Given the description of an element on the screen output the (x, y) to click on. 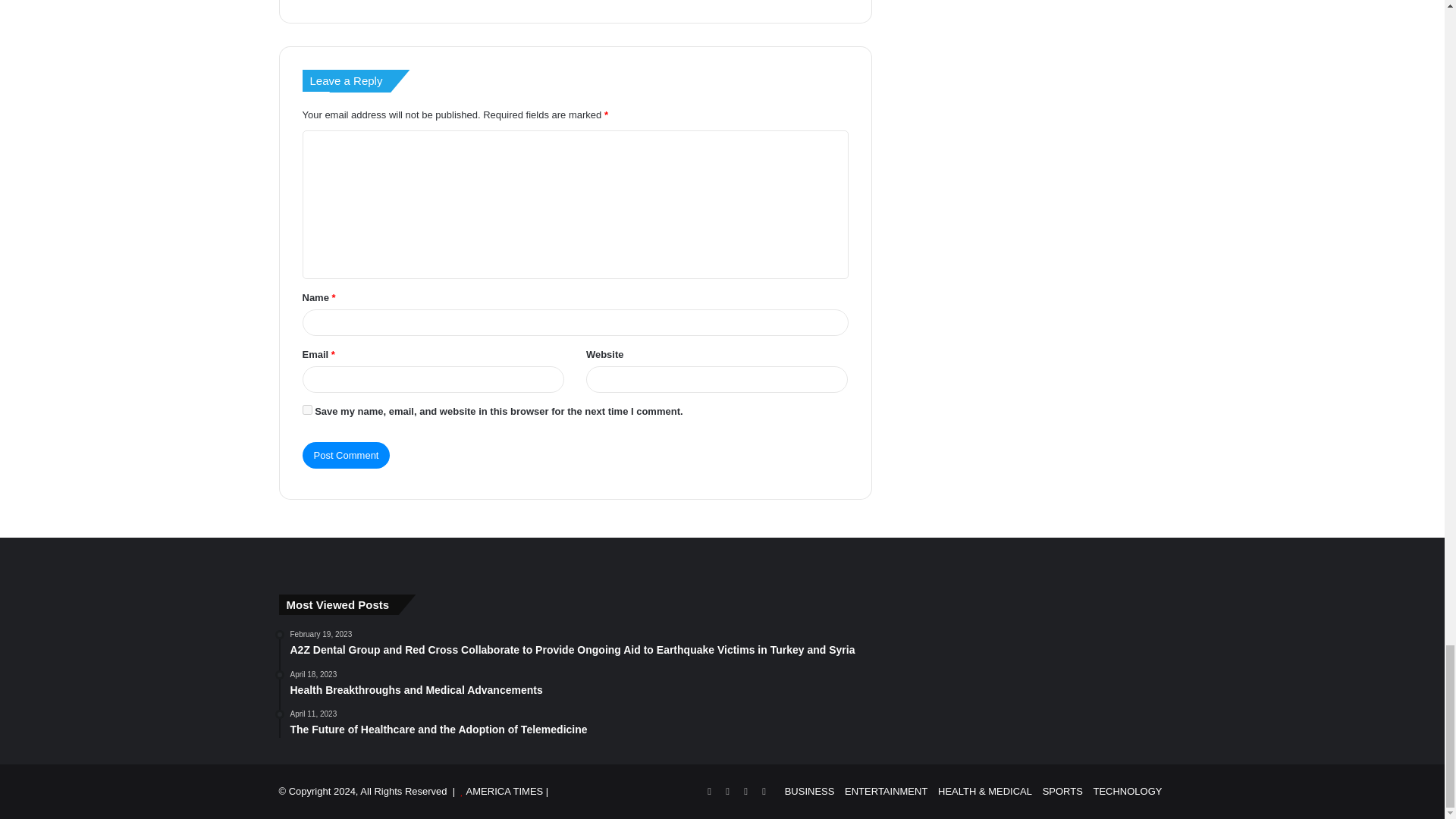
Post Comment (345, 455)
yes (306, 409)
